Given the description of an element on the screen output the (x, y) to click on. 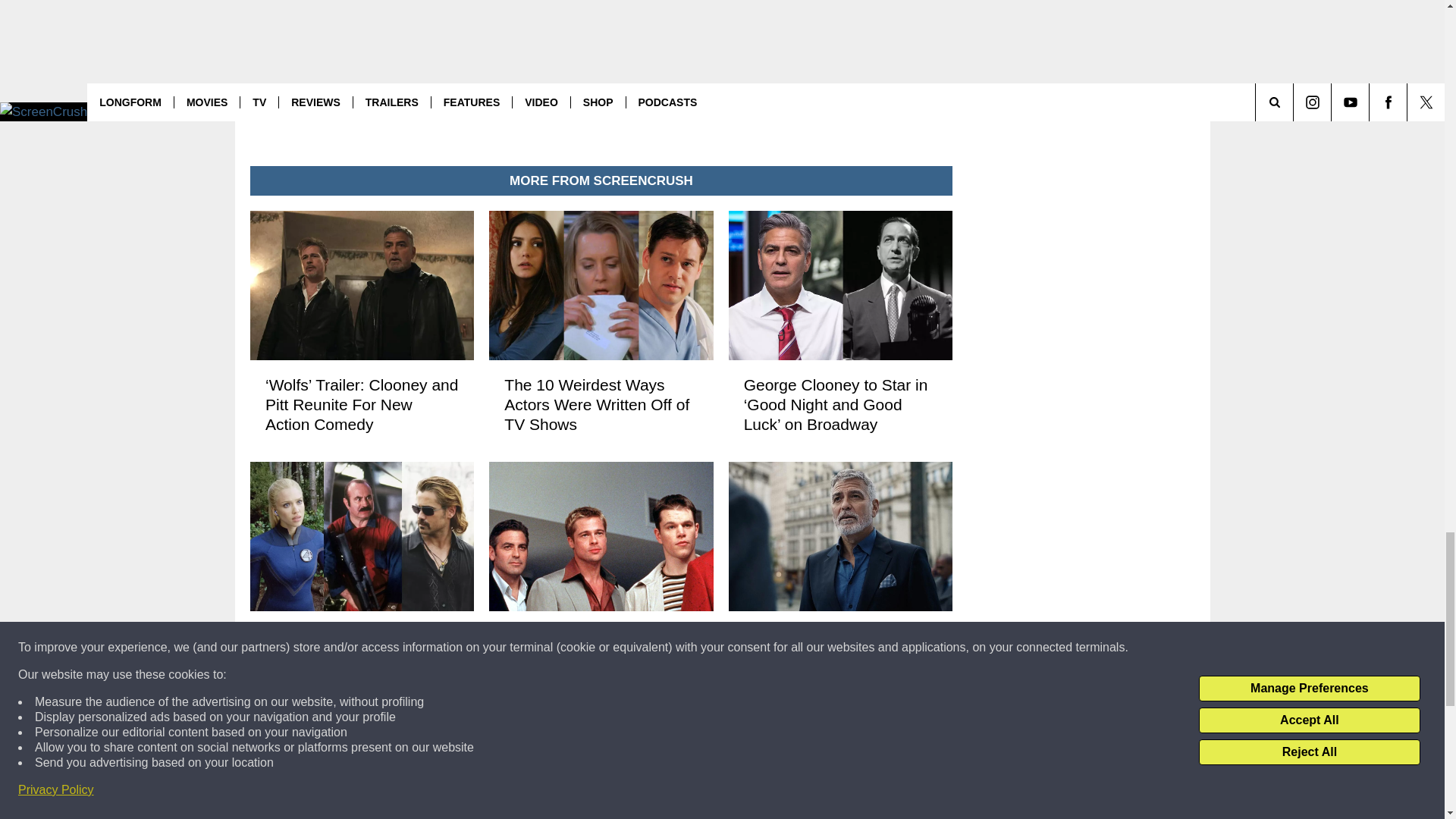
The 10 Weirdest Ways Actors Were Written Off of TV Shows (600, 404)
